Given the description of an element on the screen output the (x, y) to click on. 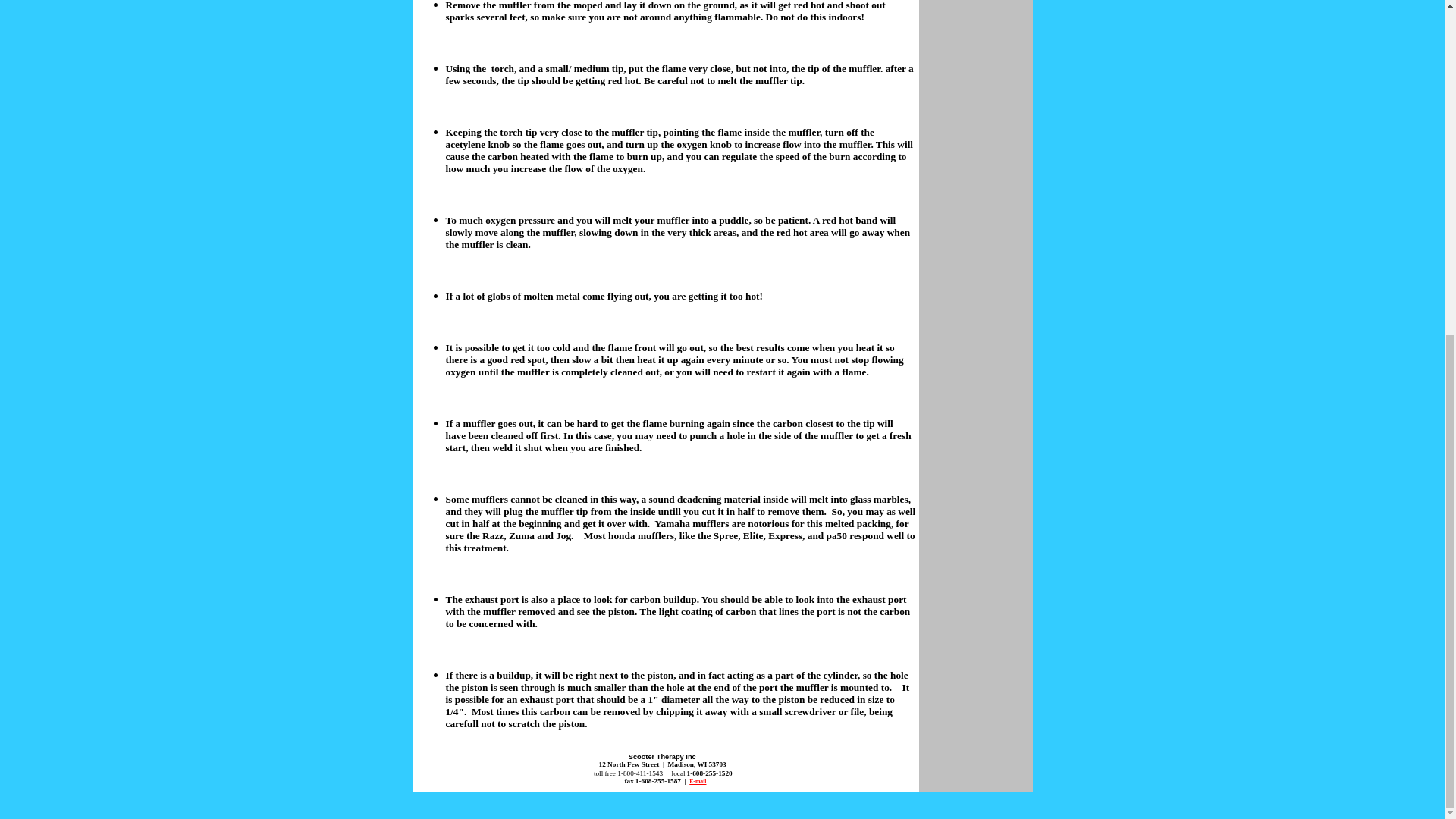
Replica Cartier (475, 811)
Fake Rolex (194, 811)
Fake Watches (398, 811)
Rolex Replica (262, 811)
Replica Tag Heuer (630, 811)
Fake Cartier (548, 811)
E-mail (697, 781)
Replica watches (44, 811)
Fake Tag Heuer (719, 811)
Replica Rolex (125, 811)
